Given the description of an element on the screen output the (x, y) to click on. 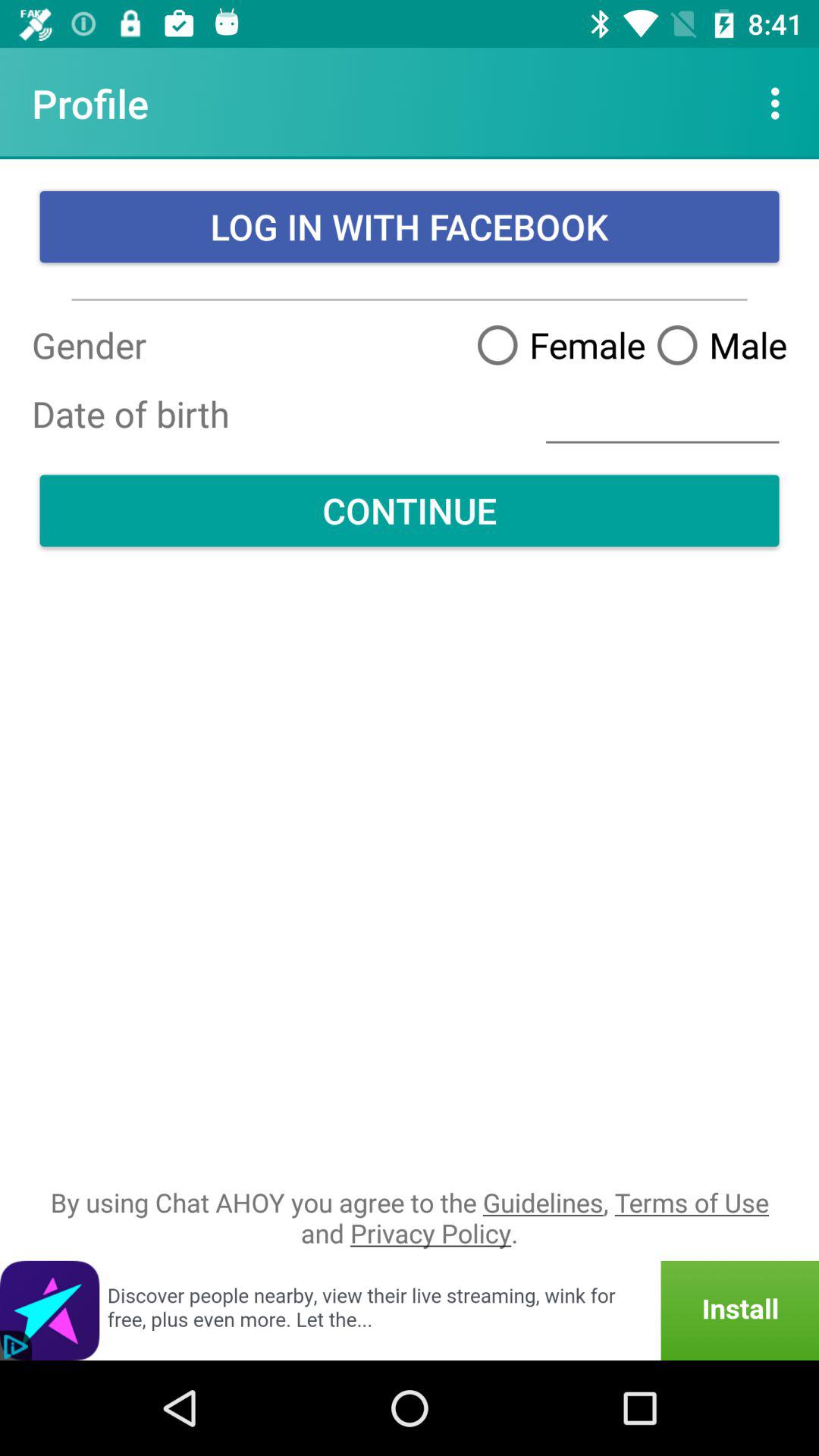
click item below by using chat icon (409, 1310)
